Given the description of an element on the screen output the (x, y) to click on. 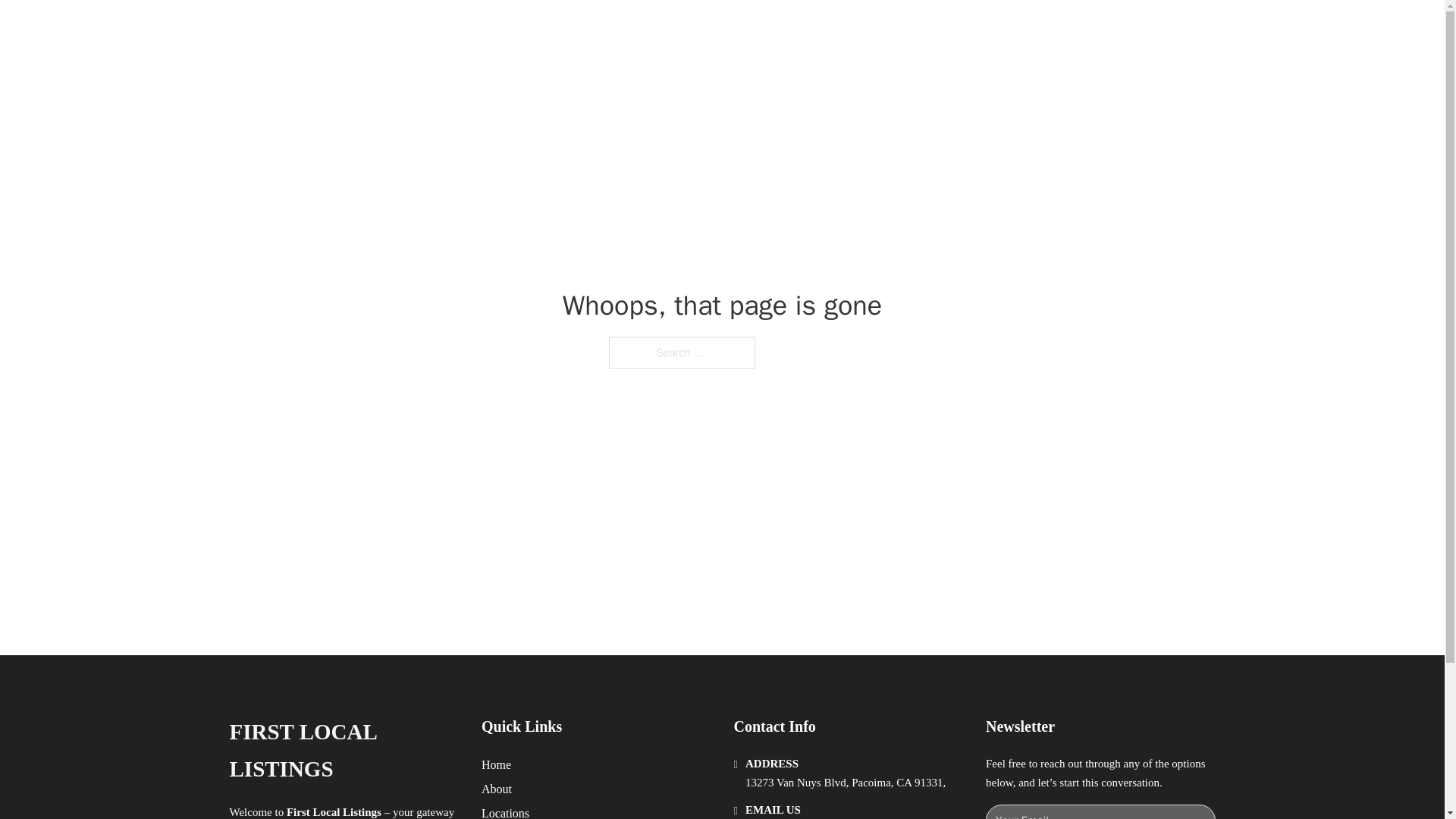
Locations (505, 811)
FIRST LOCAL LISTINGS (422, 28)
About (496, 788)
LOCATIONS (990, 29)
FIRST LOCAL LISTINGS (343, 750)
HOME (919, 29)
Home (496, 764)
